Given the description of an element on the screen output the (x, y) to click on. 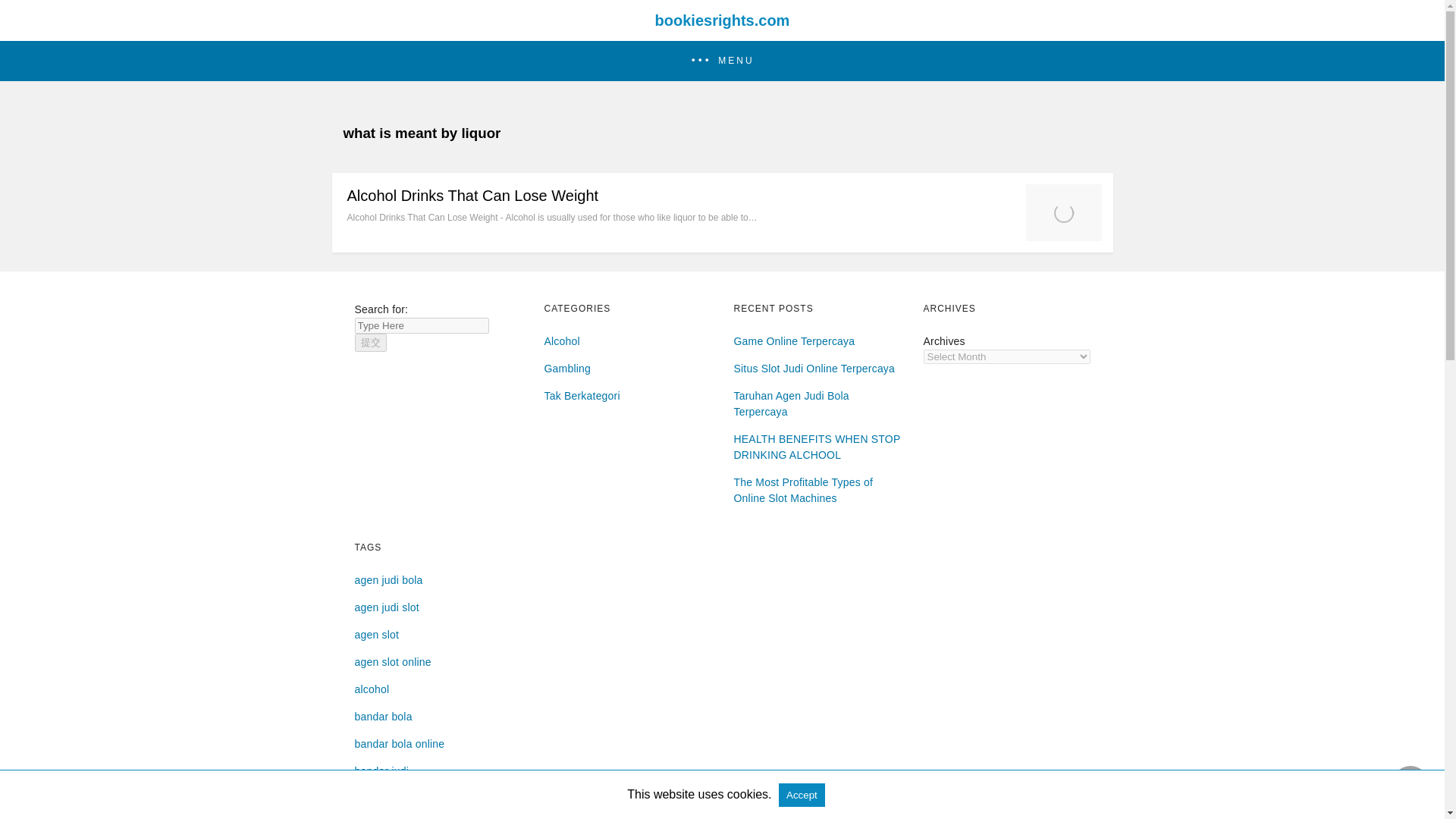
Situs Slot Judi Online Terpercaya (814, 368)
bandar bola online (400, 743)
Alcohol Drinks That Can Lose Weight (472, 195)
bandar judi bola (393, 798)
alcohol (372, 689)
Alcohol Drinks That Can Lose Weight (1062, 236)
HEALTH BENEFITS WHEN STOP DRINKING ALCHOOL (817, 447)
agen judi slot (387, 607)
Taruhan Agen Judi Bola Terpercaya (790, 403)
Alcohol (561, 340)
